Given the description of an element on the screen output the (x, y) to click on. 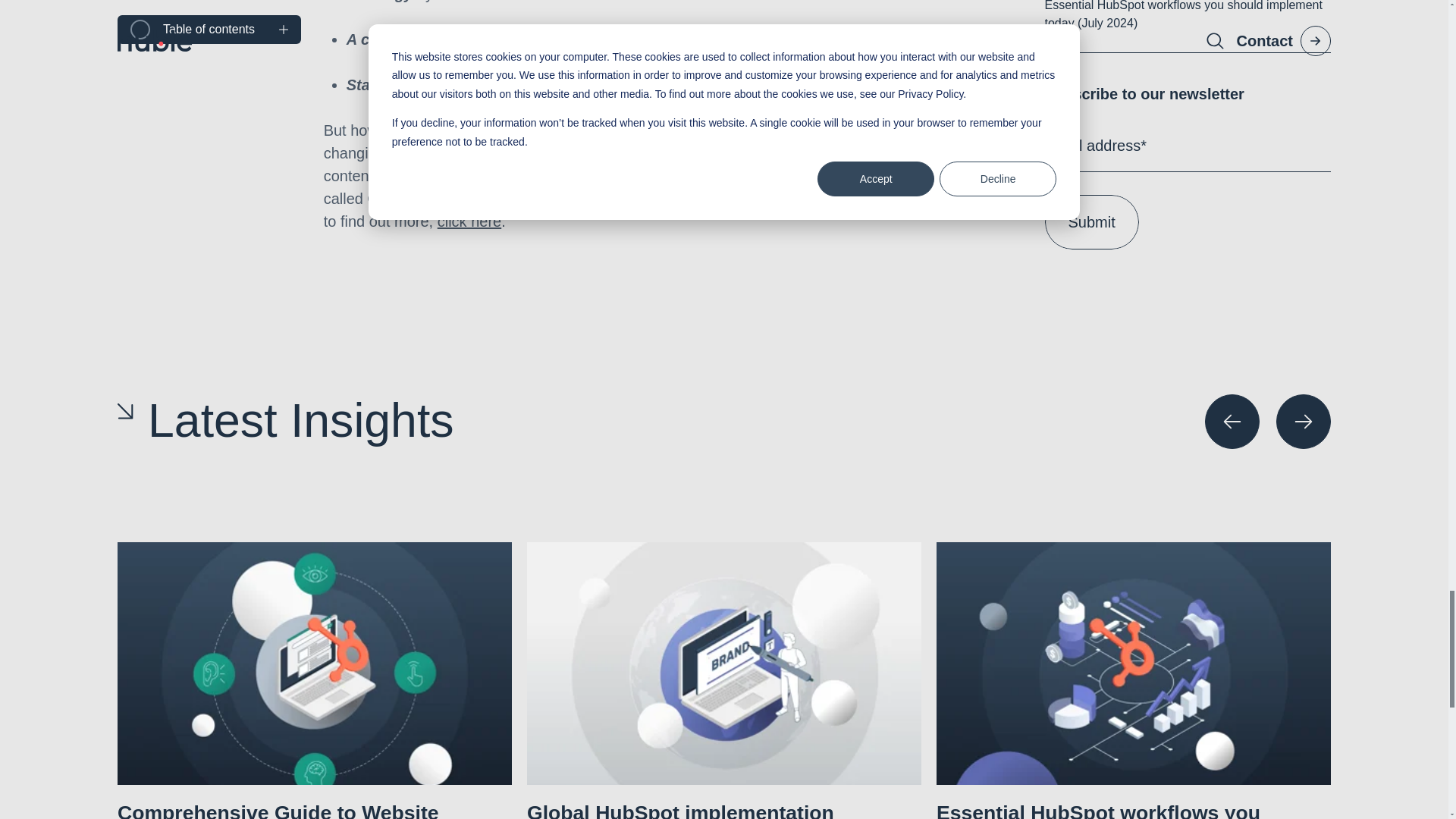
click here (469, 221)
